Given the description of an element on the screen output the (x, y) to click on. 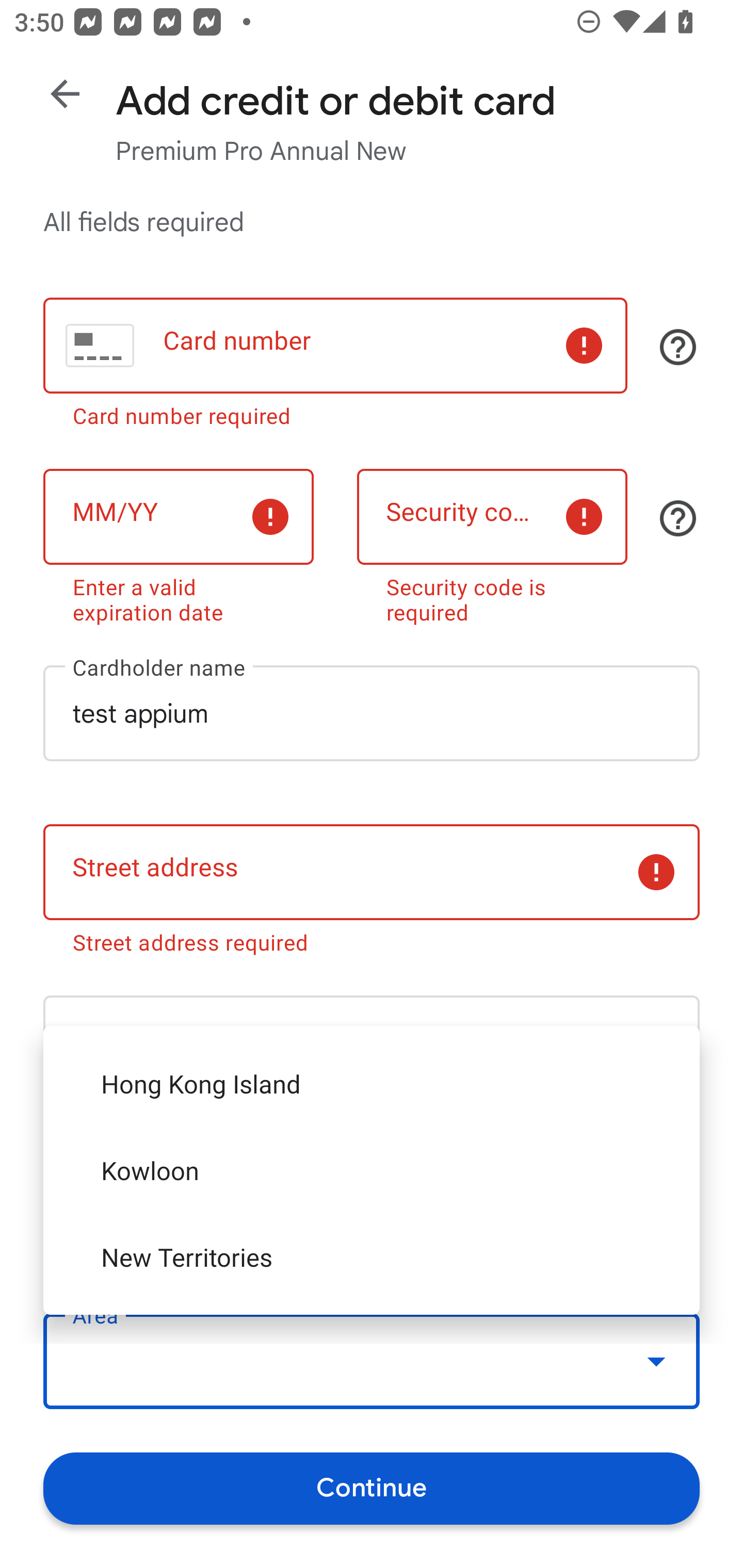
Back (64, 93)
Card number (335, 345)
Button, shows cards that are accepted for payment (677, 347)
Expiration date, 2 digit month, 2 digit year (178, 516)
Security code (492, 516)
Security code help (677, 518)
test appium (371, 713)
Street address (371, 872)
Apt, suite, etc. (optional) (371, 1043)
District (371, 1201)
Show dropdown menu (655, 1201)
Area (371, 1361)
Show dropdown menu (655, 1360)
Continue (371, 1487)
